Given the description of an element on the screen output the (x, y) to click on. 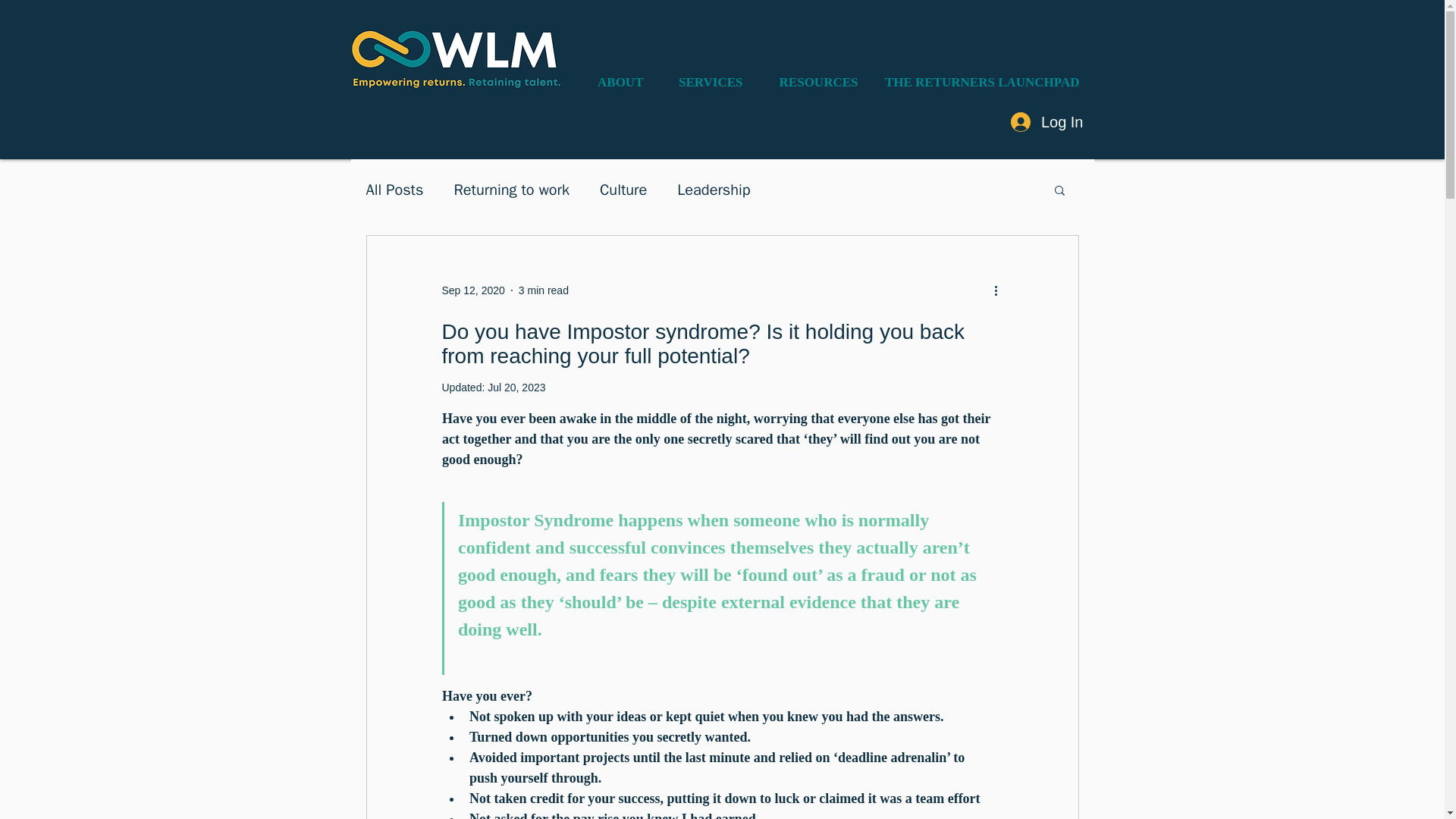
All Posts (394, 189)
3 min read (543, 289)
Culture (622, 189)
THE RETURNERS LAUNCHPAD (979, 82)
Jul 20, 2023 (515, 387)
Returning to work (510, 189)
Sep 12, 2020 (472, 289)
Log In (1047, 122)
ABOUT (615, 82)
Leadership (713, 189)
